Given the description of an element on the screen output the (x, y) to click on. 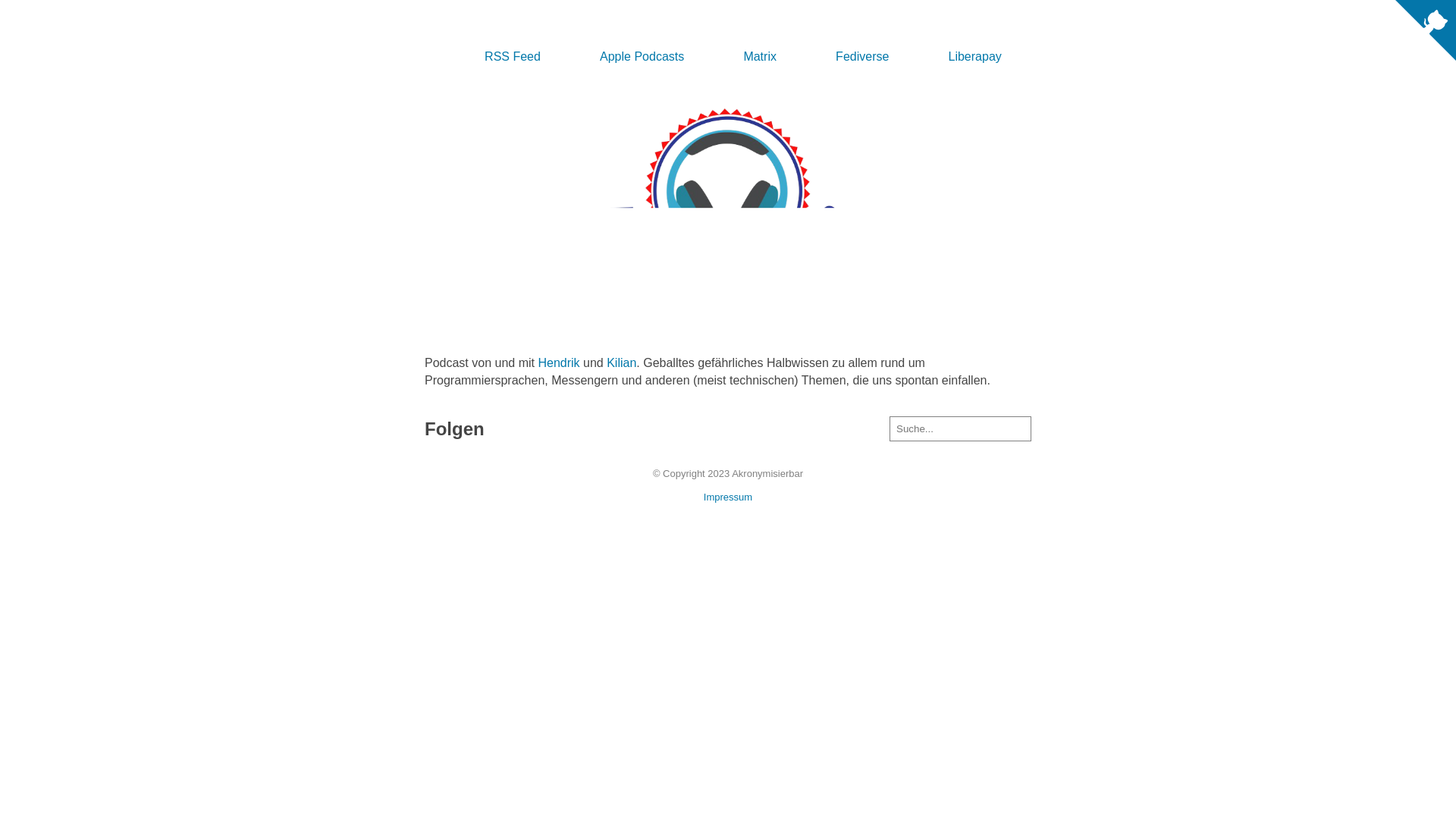
Liberapay Element type: text (974, 56)
Apple Podcasts Element type: text (641, 56)
RSS Feed Element type: text (512, 56)
Matrix Element type: text (759, 56)
Kilian Element type: text (621, 362)
Impressum Element type: text (727, 496)
Hendrik Element type: text (558, 362)
Fediverse Element type: text (861, 56)
